Given the description of an element on the screen output the (x, y) to click on. 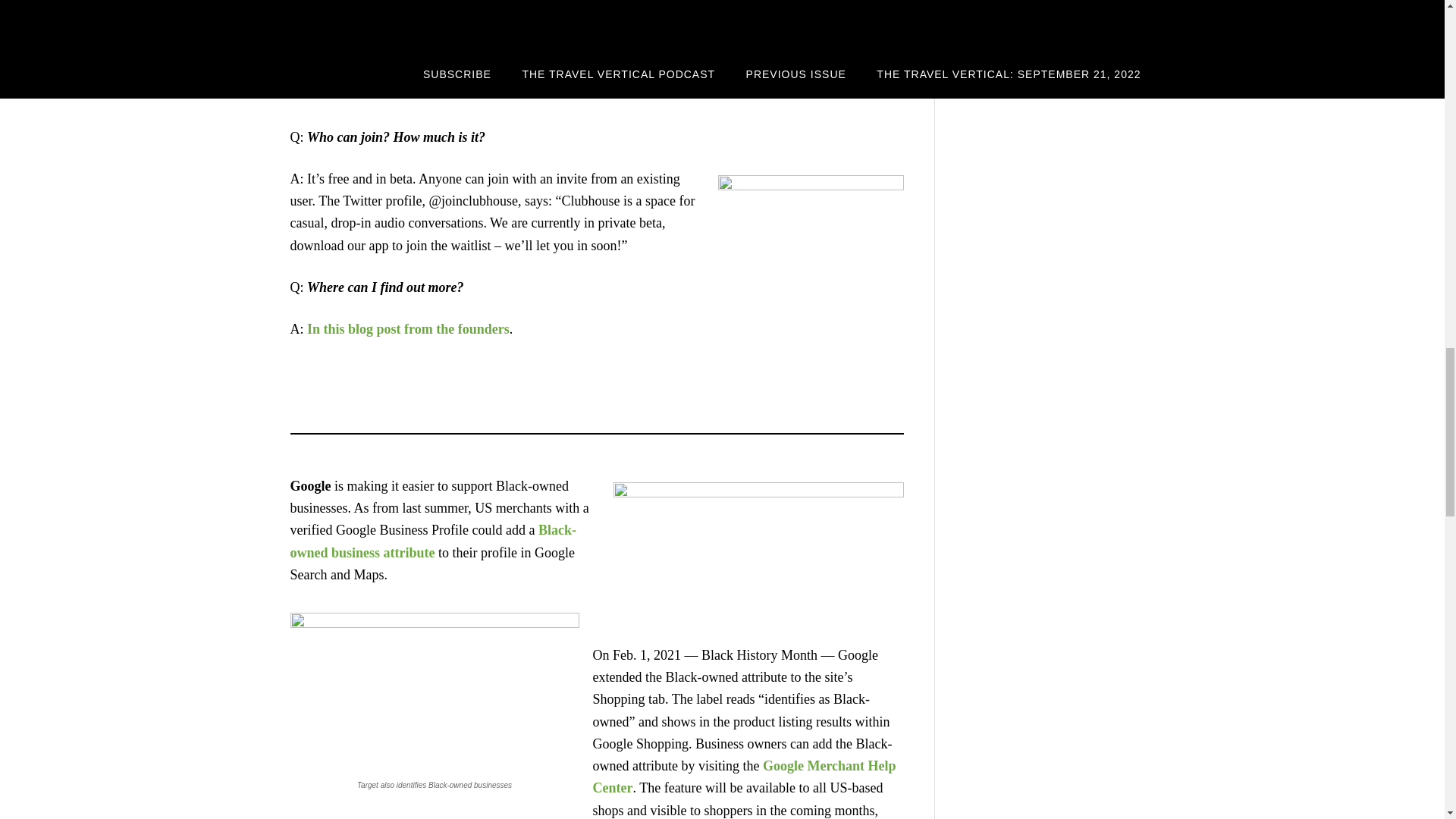
In this blog post from the founders (408, 328)
Black-owned business attribute (432, 540)
Google Merchant Help Center (744, 776)
